Given the description of an element on the screen output the (x, y) to click on. 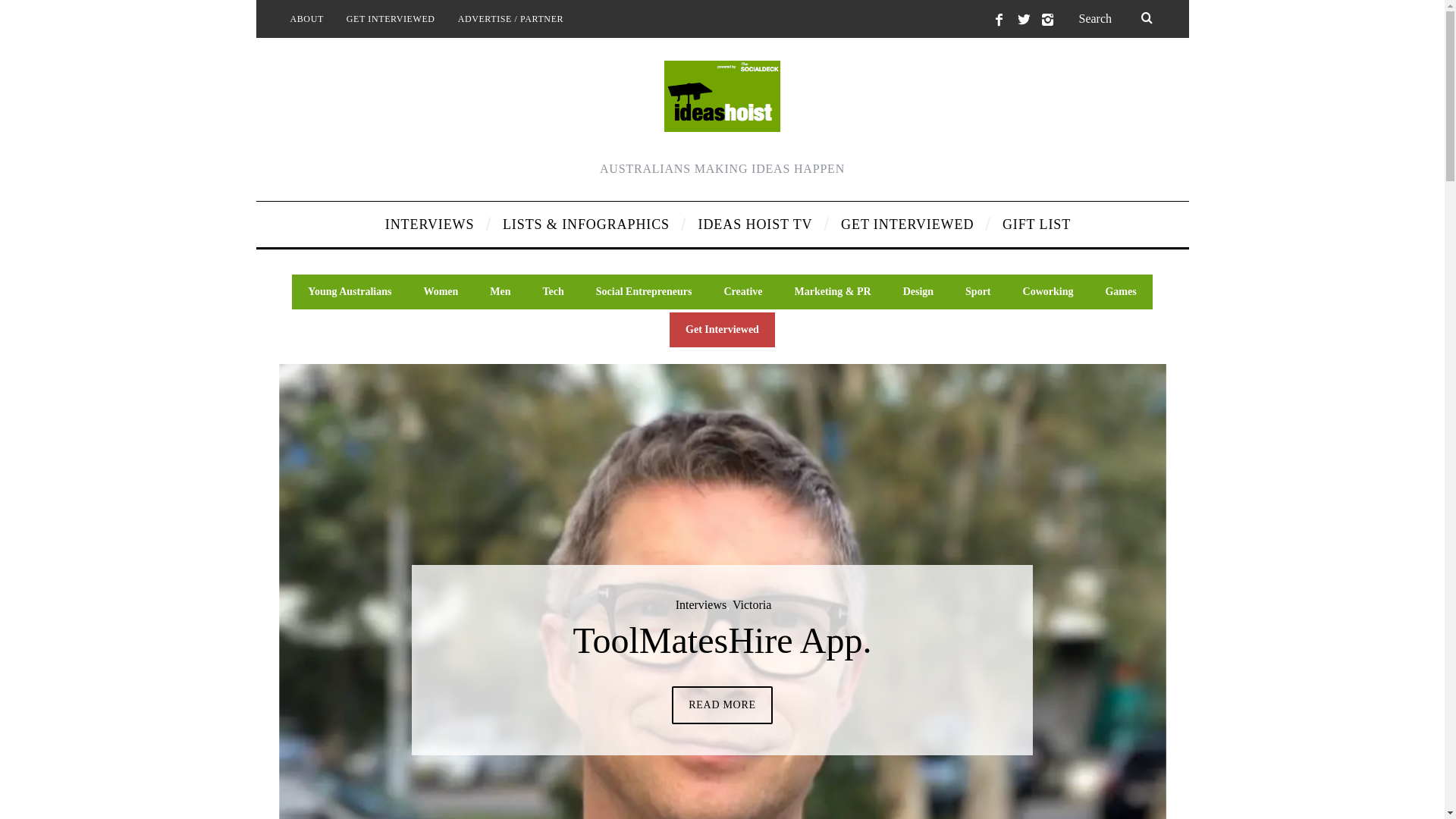
Tech Element type: text (553, 291)
LISTS & INFOGRAPHICS Element type: text (589, 224)
Victoria Element type: text (751, 604)
Coworking Element type: text (1048, 291)
GET INTERVIEWED Element type: text (390, 18)
READ MORE Element type: text (721, 705)
Sport Element type: text (977, 291)
Interviews Element type: text (701, 604)
IDEAS HOIST TV Element type: text (758, 224)
Young Australians Element type: text (349, 291)
INTERVIEWS Element type: text (432, 224)
ABOUT Element type: text (307, 18)
Design Element type: text (918, 291)
Women Element type: text (440, 291)
Get Interviewed Element type: text (722, 329)
ADVERTISE / PARTNER Element type: text (510, 18)
Games Element type: text (1119, 291)
Social Entrepreneurs Element type: text (644, 291)
Men Element type: text (499, 291)
GIFT LIST Element type: text (1030, 224)
Marketing & PR Element type: text (832, 291)
GET INTERVIEWED Element type: text (910, 224)
Creative Element type: text (742, 291)
